Given the description of an element on the screen output the (x, y) to click on. 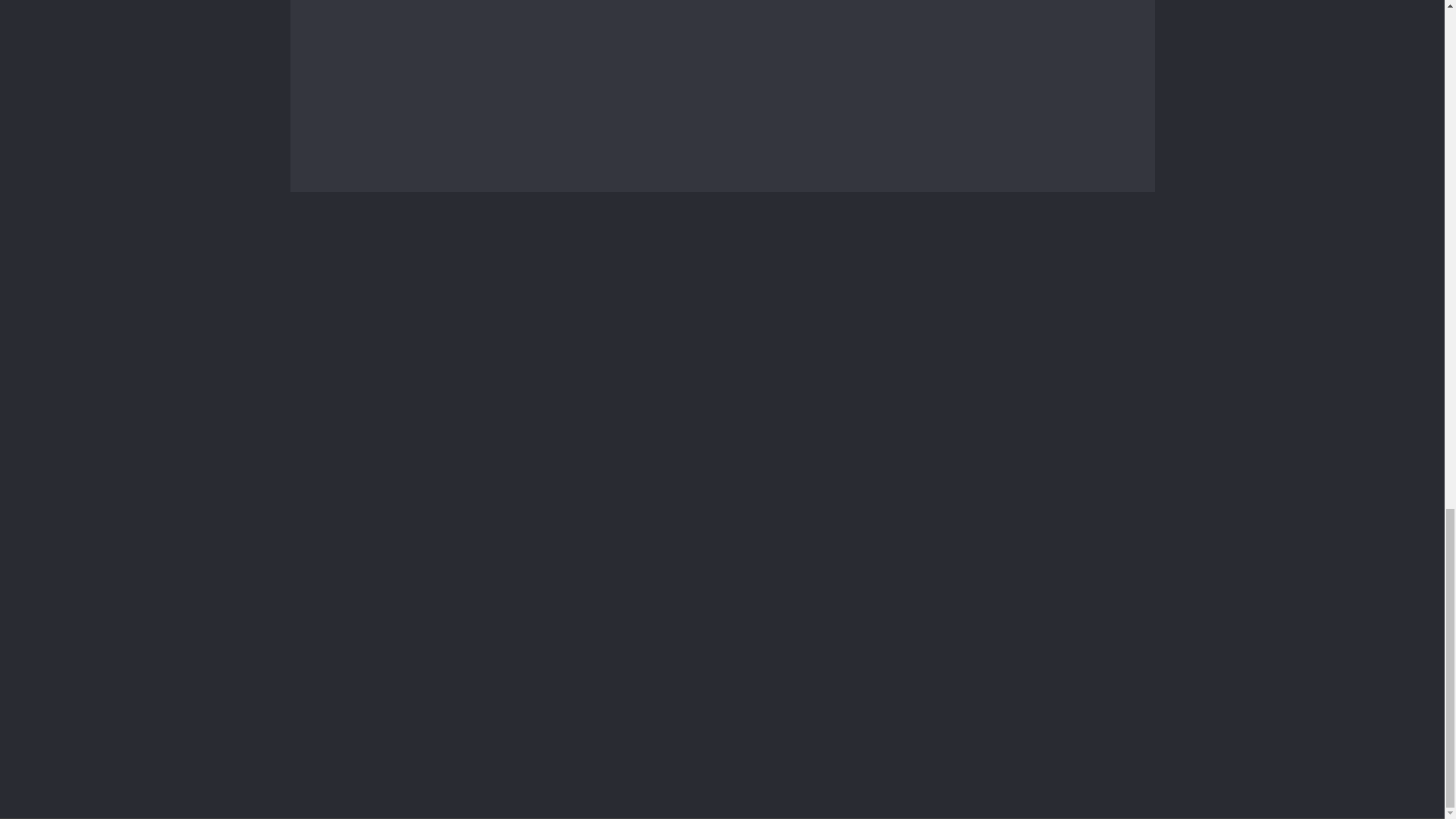
Submit (363, 705)
